Given the description of an element on the screen output the (x, y) to click on. 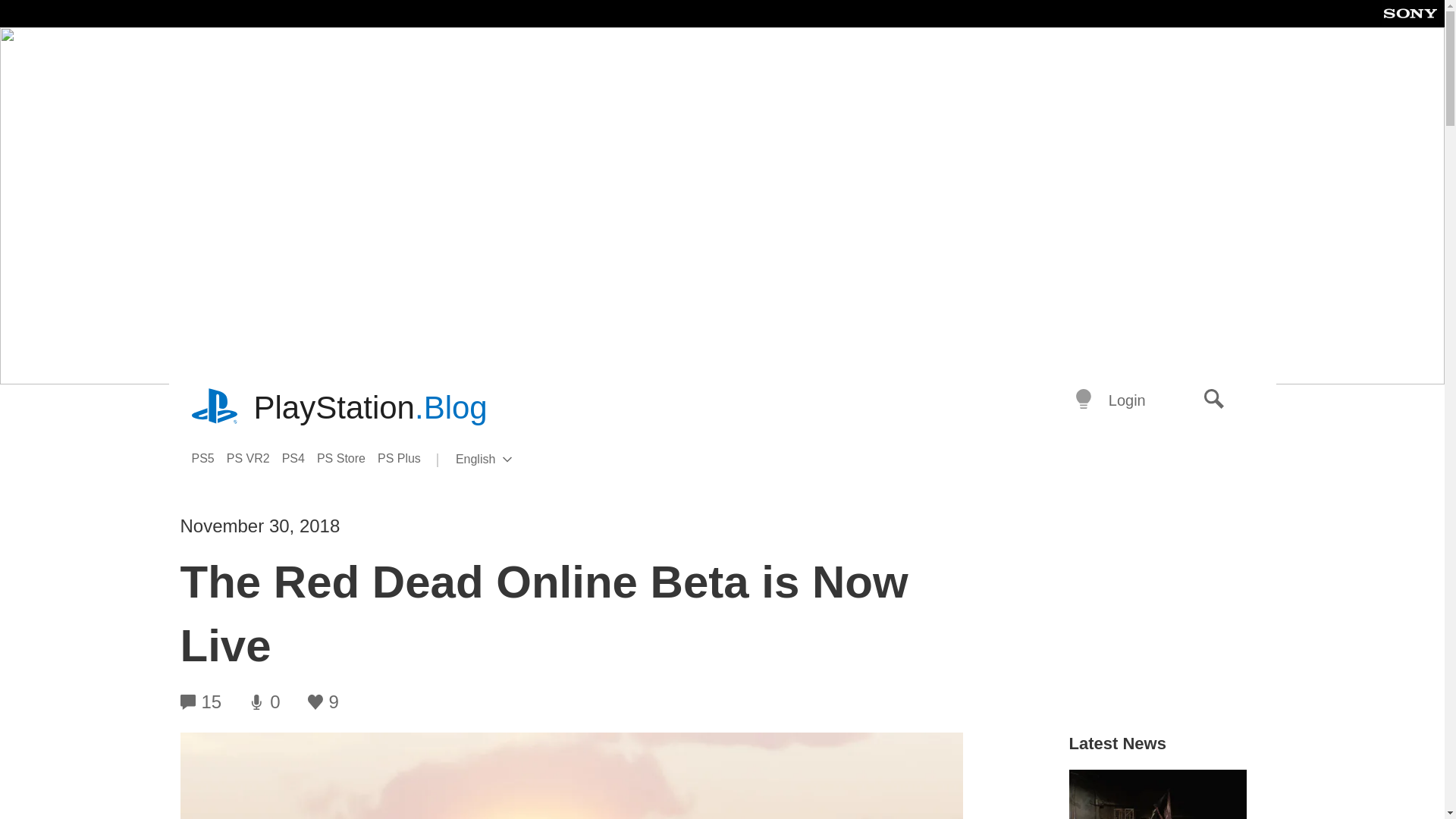
PS Store (347, 458)
PS5 (207, 458)
playstation.com (215, 408)
PS4 (299, 458)
PlayStation.Blog (369, 407)
Login (1126, 400)
PS Plus (404, 458)
PS VR2 (254, 458)
Search (1214, 400)
